Given the description of an element on the screen output the (x, y) to click on. 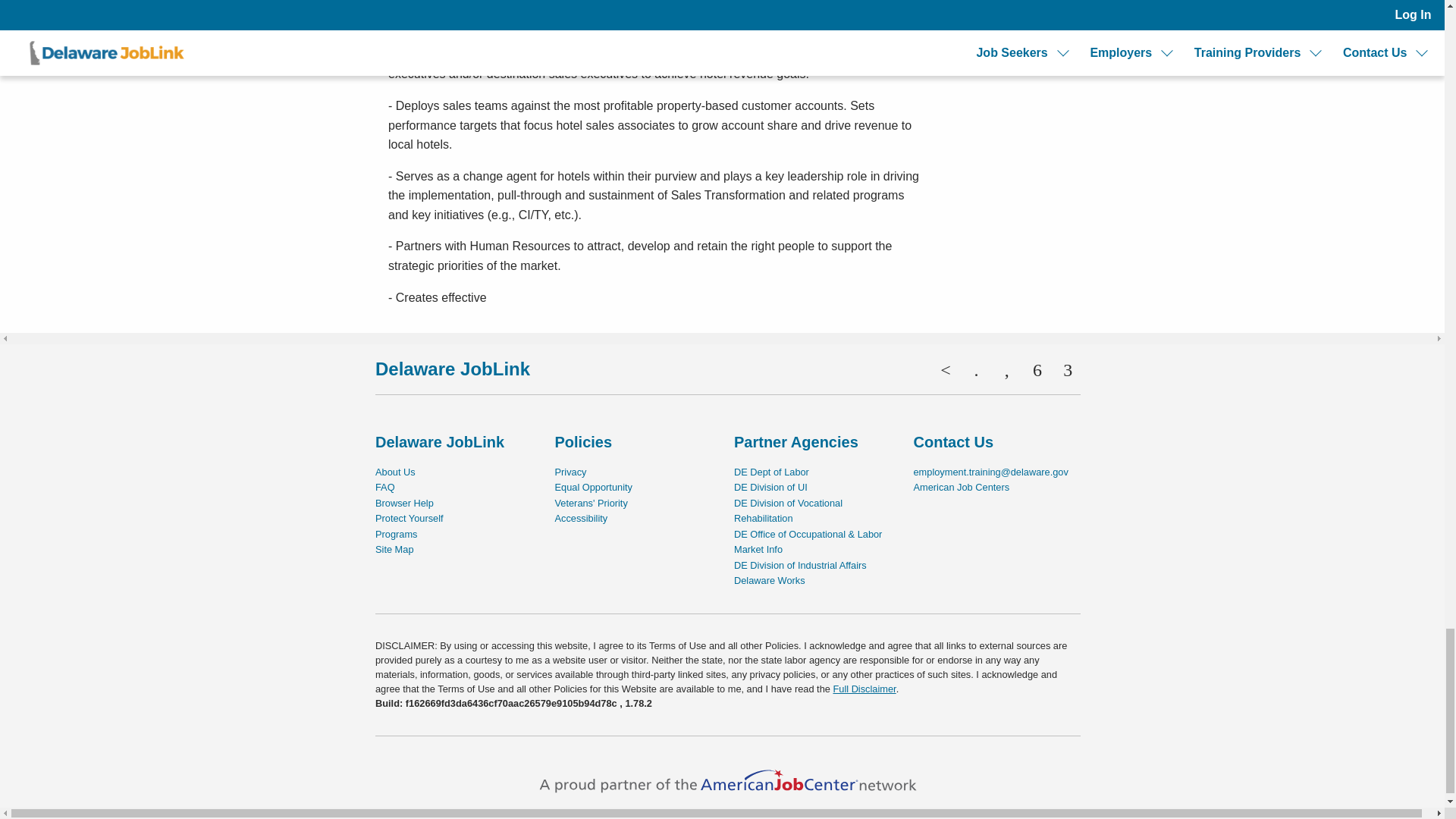
Delaware JobLink (452, 369)
Browser Help (404, 502)
FAQ (384, 487)
Programs (395, 533)
Site Map (394, 549)
Protect Yourself (409, 518)
About Us (394, 471)
